Given the description of an element on the screen output the (x, y) to click on. 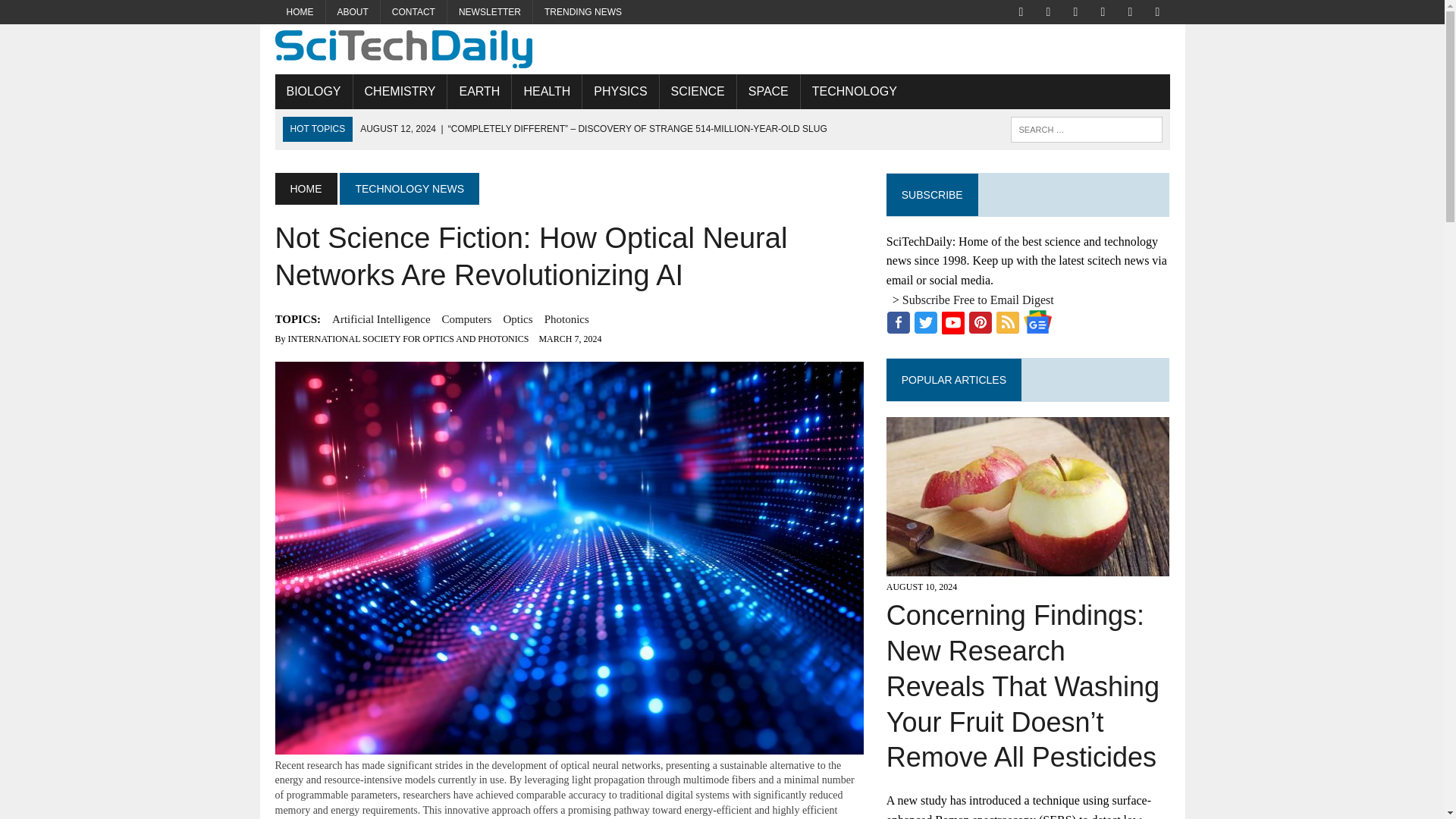
Optics (517, 319)
Search (75, 14)
Computers (467, 319)
HOME (299, 12)
PHYSICS (620, 91)
CHEMISTRY (399, 91)
CONTACT (413, 12)
BIOLOGY (313, 91)
SCIENCE (697, 91)
Photonics (566, 319)
